Given the description of an element on the screen output the (x, y) to click on. 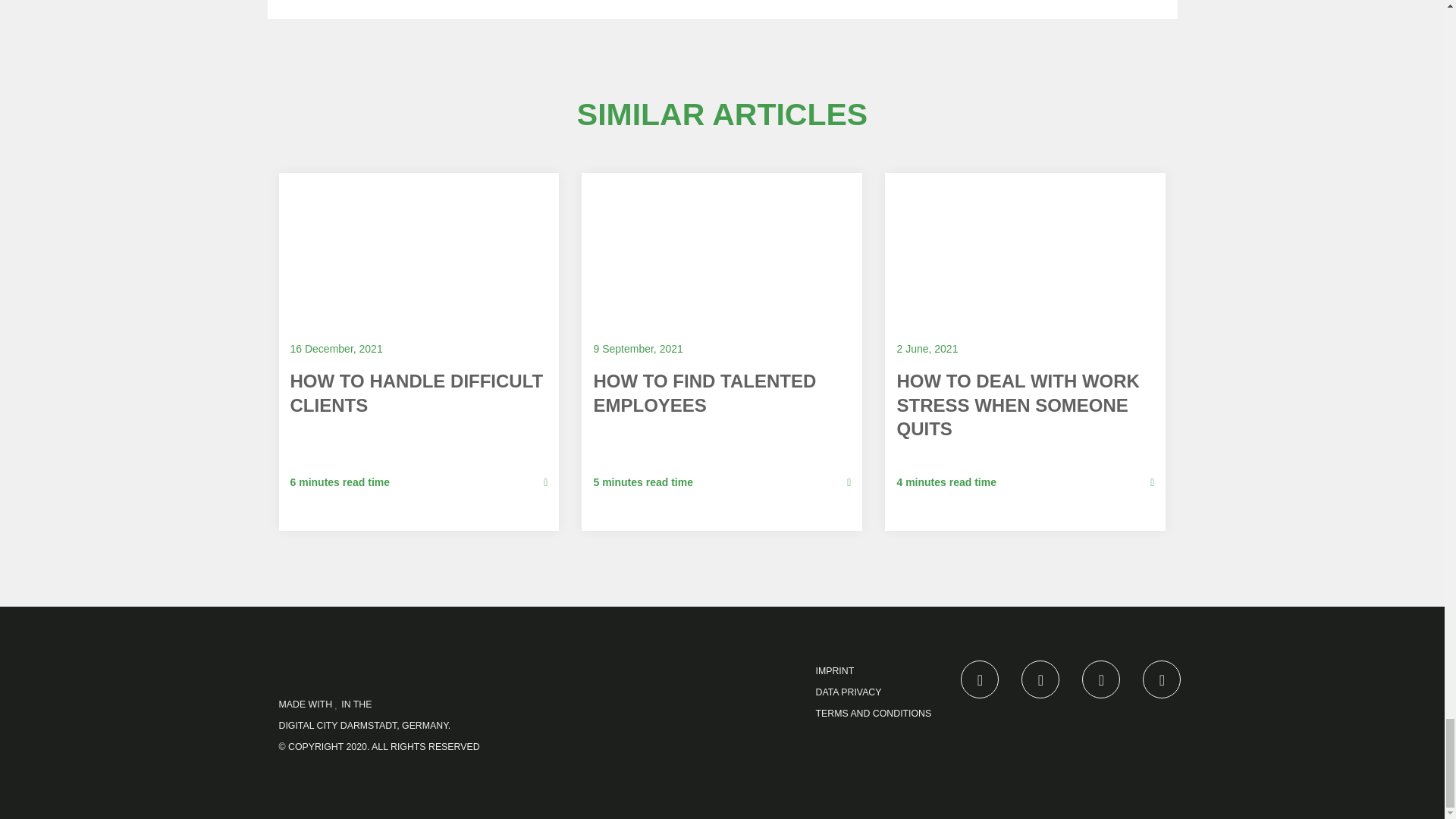
HOW TO FIND TALENTED EMPLOYEES (721, 398)
HOW TO DEAL WITH WORK STRESS WHEN SOMEONE QUITS (1025, 410)
HOW TO HANDLE DIFFICULT CLIENTS (418, 397)
